Given the description of an element on the screen output the (x, y) to click on. 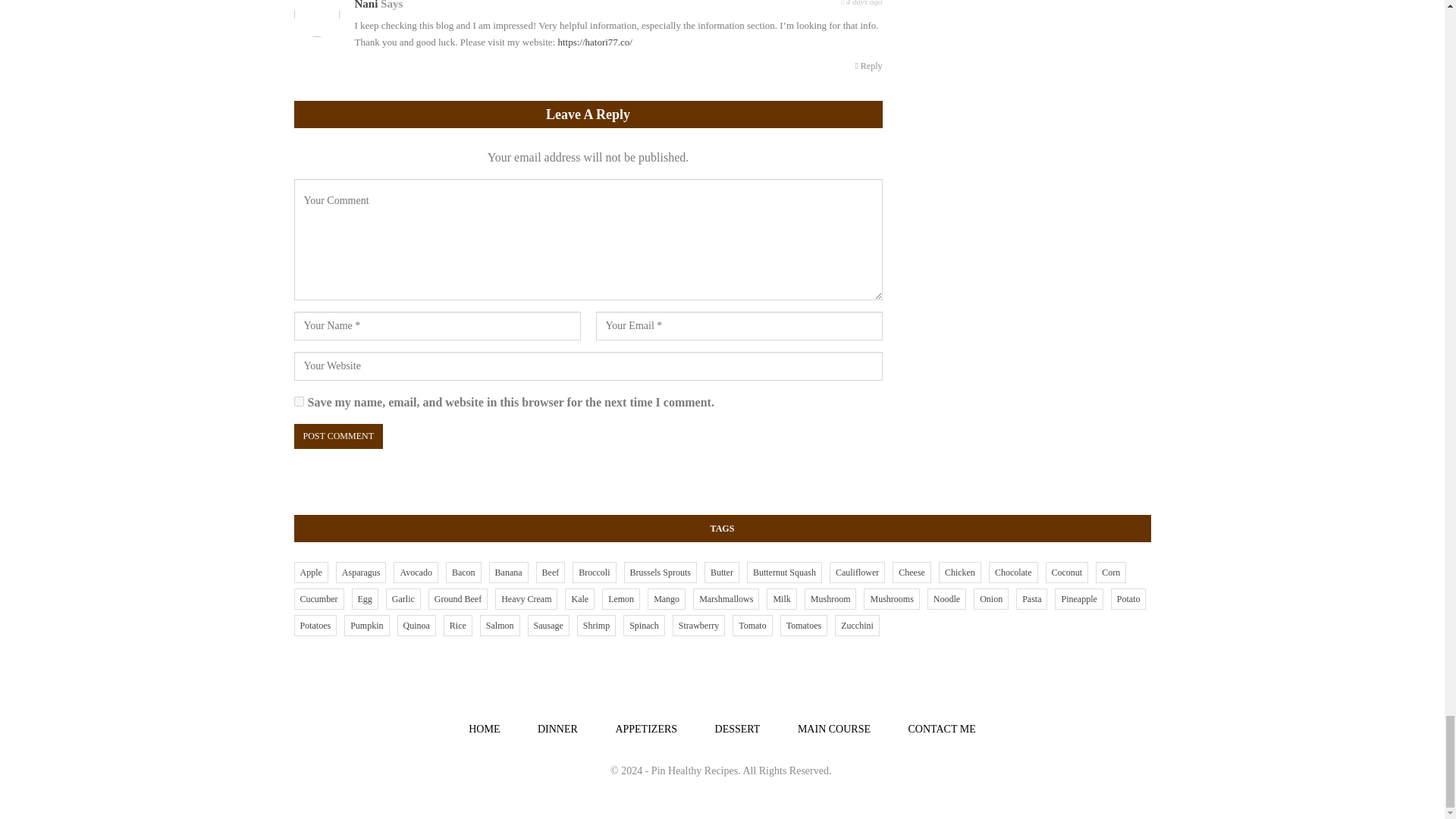
Post Comment (338, 436)
yes (299, 401)
